Given the description of an element on the screen output the (x, y) to click on. 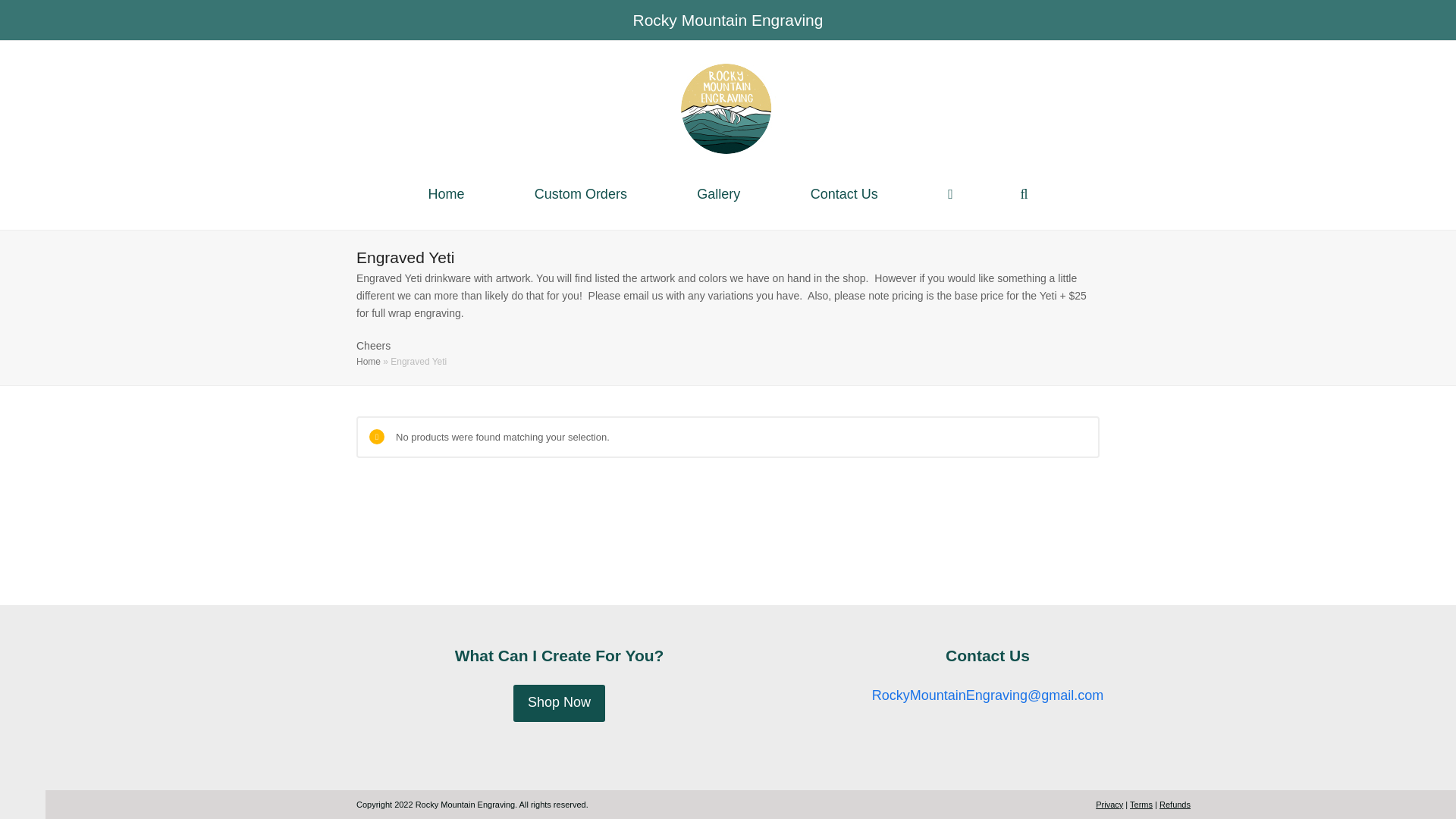
Terms (1141, 804)
Home (368, 361)
Gallery (718, 195)
Privacy (1109, 804)
Shop Now (559, 702)
Custom Orders (580, 195)
Home (445, 195)
Refunds (1174, 804)
Contact Us (843, 195)
